Given the description of an element on the screen output the (x, y) to click on. 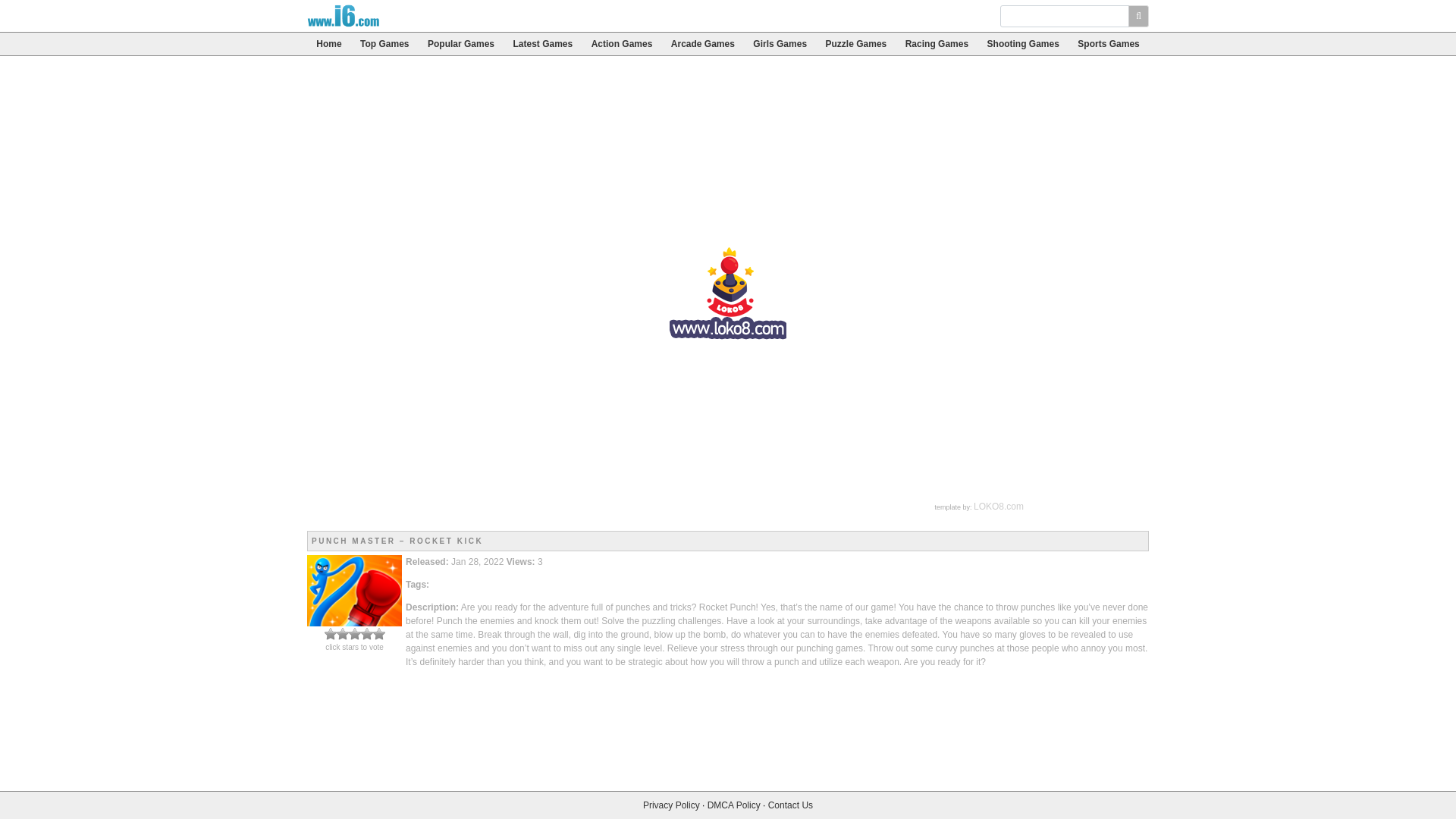
Popular Games (461, 43)
4 (348, 633)
1 (330, 633)
3 (342, 633)
1 (330, 633)
Privacy Policy (671, 805)
5 (354, 633)
2 (336, 633)
Shooting Games (1022, 43)
4 (348, 633)
Home (328, 43)
Racing Games (935, 43)
Puzzle Games (855, 43)
3 (342, 633)
Sports Games (1108, 43)
